Given the description of an element on the screen output the (x, y) to click on. 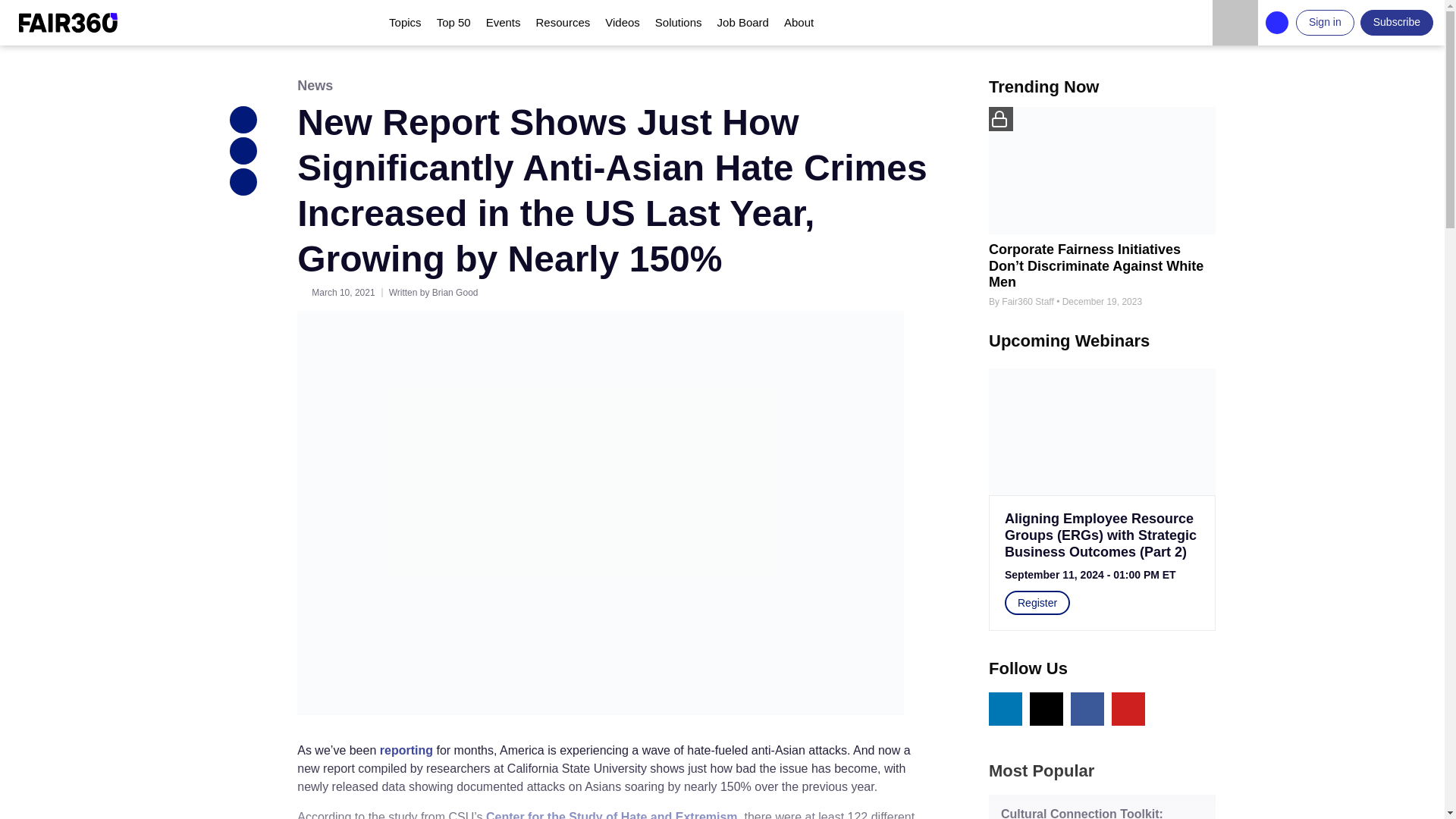
Top 50 (454, 22)
Solutions (678, 22)
Videos (621, 22)
Topics (405, 22)
Resources (563, 22)
Events (503, 22)
